Given the description of an element on the screen output the (x, y) to click on. 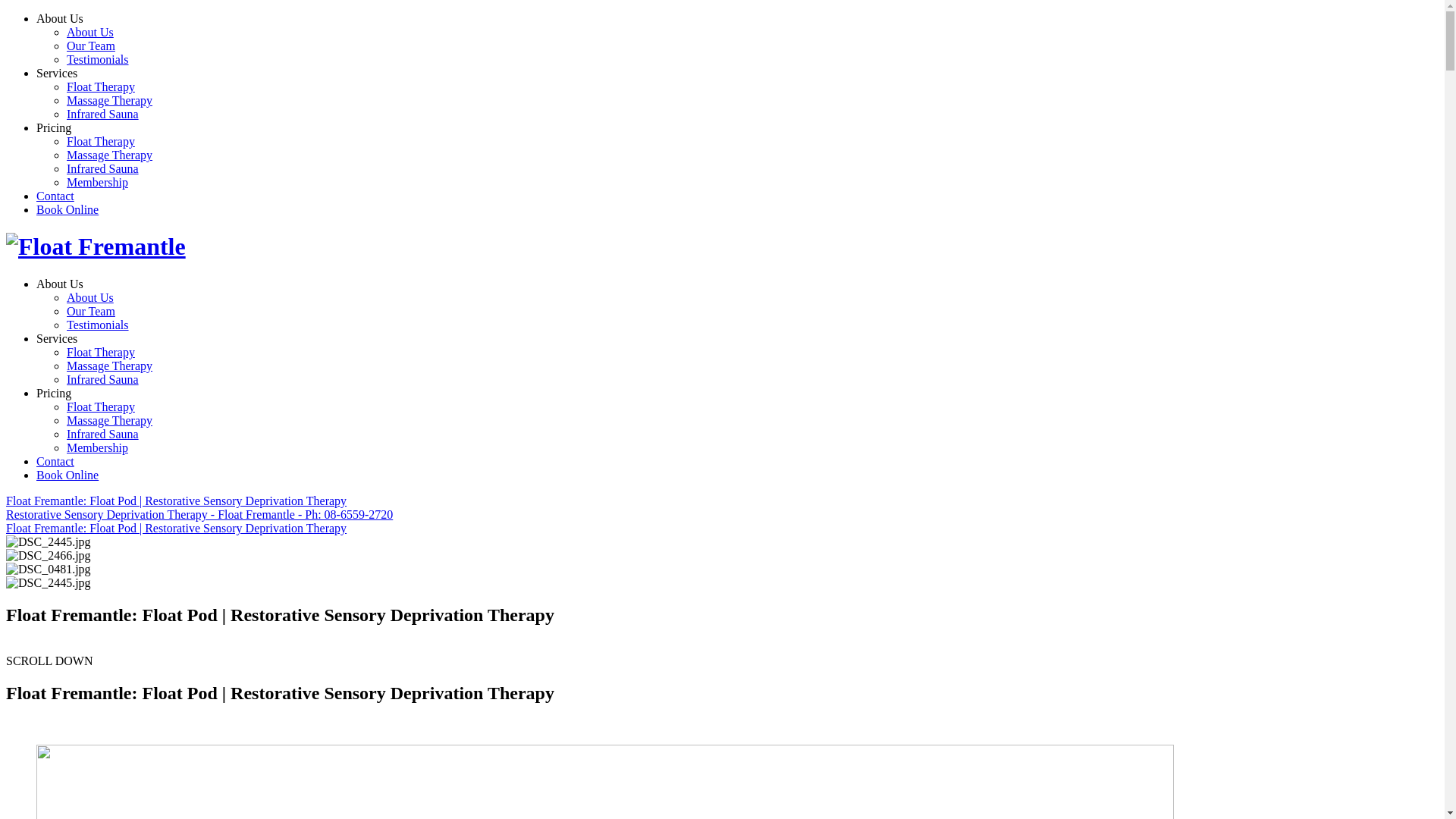
Infrared Sauna Element type: text (102, 433)
Float Therapy Element type: text (100, 140)
Massage Therapy Element type: text (109, 365)
Contact Element type: text (55, 195)
About Us Element type: text (89, 31)
Book Online Element type: text (67, 474)
Infrared Sauna Element type: text (102, 379)
Float Therapy Element type: text (100, 86)
Testimonials Element type: text (97, 324)
Massage Therapy Element type: text (109, 154)
Float Therapy Element type: text (100, 406)
Float Therapy Element type: text (100, 351)
Infrared Sauna Element type: text (102, 113)
Services Element type: text (56, 72)
Our Team Element type: text (90, 45)
Massage Therapy Element type: text (109, 420)
Membership Element type: text (97, 181)
Services Element type: text (56, 338)
Pricing Element type: text (53, 392)
Massage Therapy Element type: text (109, 100)
Our Team Element type: text (90, 310)
Book Online Element type: text (67, 209)
About Us Element type: text (89, 297)
About Us Element type: text (59, 283)
Infrared Sauna Element type: text (102, 168)
Membership Element type: text (97, 447)
Testimonials Element type: text (97, 59)
Contact Element type: text (55, 461)
About Us Element type: text (59, 18)
Pricing Element type: text (53, 127)
